Given the description of an element on the screen output the (x, y) to click on. 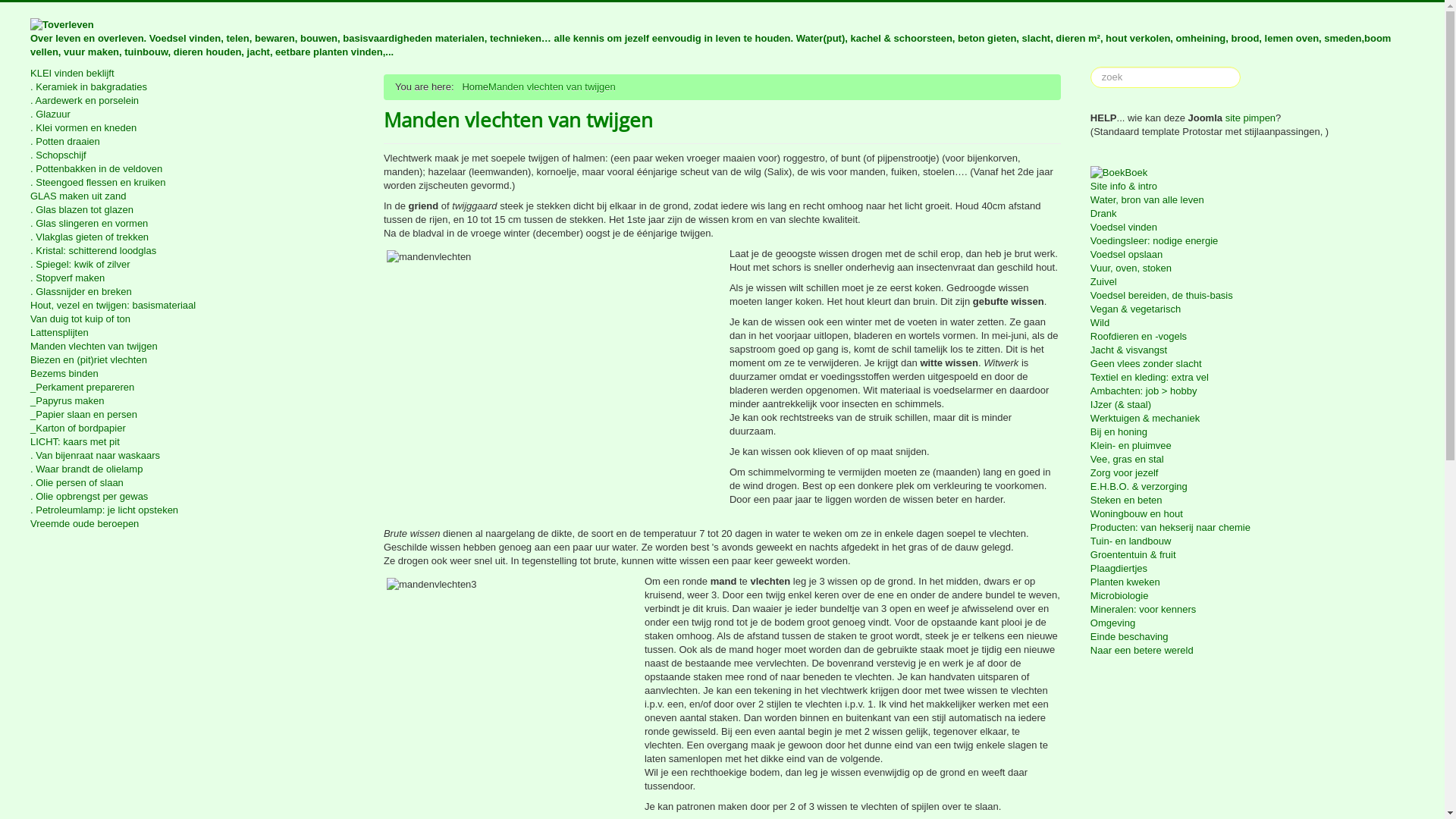
Vuur, oven, stoken Element type: text (1252, 268)
Vee, gras en stal Element type: text (1252, 459)
Woningbouw en hout Element type: text (1252, 513)
. Schopschijf Element type: text (192, 155)
IJzer (& staal) Element type: text (1252, 404)
_Papyrus maken Element type: text (192, 400)
Lattensplijten Element type: text (192, 332)
Bij en honing Element type: text (1252, 432)
Biezen en (pit)riet vlechten Element type: text (192, 360)
_Perkament prepareren Element type: text (192, 387)
_Papier slaan en persen Element type: text (192, 414)
Naar een betere wereld Element type: text (1252, 650)
. Spiegel: kwik of zilver Element type: text (192, 264)
Microbiologie Element type: text (1252, 595)
Jacht & visvangst Element type: text (1252, 350)
Water, bron van alle leven Element type: text (1252, 200)
Producten: van hekserij naar chemie Element type: text (1252, 527)
Mineralen: voor kenners Element type: text (1252, 609)
_Karton of bordpapier Element type: text (192, 428)
. Aardewerk en porselein Element type: text (192, 100)
Einde beschaving Element type: text (1252, 636)
Site info & intro Element type: text (1252, 186)
site pimpen Element type: text (1250, 117)
Zuivel Element type: text (1252, 281)
Klein- en pluimvee Element type: text (1252, 445)
Plaagdiertjes Element type: text (1252, 568)
Hout, vezel en twijgen: basismateriaal Element type: text (192, 305)
Voedingsleer: nodige energie Element type: text (1252, 240)
Ambachten: job > hobby Element type: text (1252, 391)
. Olie opbrengst per gewas Element type: text (192, 496)
. Stopverf maken Element type: text (192, 278)
. Vlakglas gieten of trekken Element type: text (192, 237)
. Pottenbakken in de veldoven Element type: text (192, 168)
Drank Element type: text (1252, 213)
. Glazuur Element type: text (192, 114)
KLEI vinden beklijft Element type: text (192, 73)
Vreemde oude beroepen Element type: text (192, 523)
Omgeving Element type: text (1252, 623)
Groententuin & fruit Element type: text (1252, 554)
Wild Element type: text (1252, 322)
Vegan & vegetarisch Element type: text (1252, 309)
. Van bijenraat naar waskaars Element type: text (192, 455)
. Potten draaien Element type: text (192, 141)
Home Element type: text (474, 86)
Geen vlees zonder slacht Element type: text (1252, 363)
LICHT: kaars met pit Element type: text (192, 441)
Boek Element type: text (1252, 173)
Steken en beten Element type: text (1252, 500)
. Petroleumlamp: je licht opsteken Element type: text (192, 510)
. Glas blazen tot glazen Element type: text (192, 209)
Werktuigen & mechaniek Element type: text (1252, 418)
Bezems binden Element type: text (192, 373)
Planten kweken Element type: text (1252, 582)
. Olie persen of slaan Element type: text (192, 482)
Textiel en kleding: extra vel Element type: text (1252, 377)
Van duig tot kuip of ton Element type: text (192, 319)
. Kristal: schitterend loodglas Element type: text (192, 250)
. Keramiek in bakgradaties Element type: text (192, 87)
Voedsel opslaan Element type: text (1252, 254)
Tuin- en landbouw Element type: text (1252, 541)
E.H.B.O. & verzorging Element type: text (1252, 486)
. Glas slingeren en vormen Element type: text (192, 223)
Roofdieren en -vogels Element type: text (1252, 336)
. Waar brandt de olielamp Element type: text (192, 469)
. Klei vormen en kneden Element type: text (192, 127)
Zorg voor jezelf Element type: text (1252, 473)
Manden vlechten van twijgen Element type: text (192, 346)
. Glassnijder en breken Element type: text (192, 291)
GLAS maken uit zand Element type: text (192, 196)
Voedsel vinden Element type: text (1252, 227)
. Steengoed flessen en kruiken Element type: text (192, 182)
Voedsel bereiden, de thuis-basis Element type: text (1252, 295)
